Given the description of an element on the screen output the (x, y) to click on. 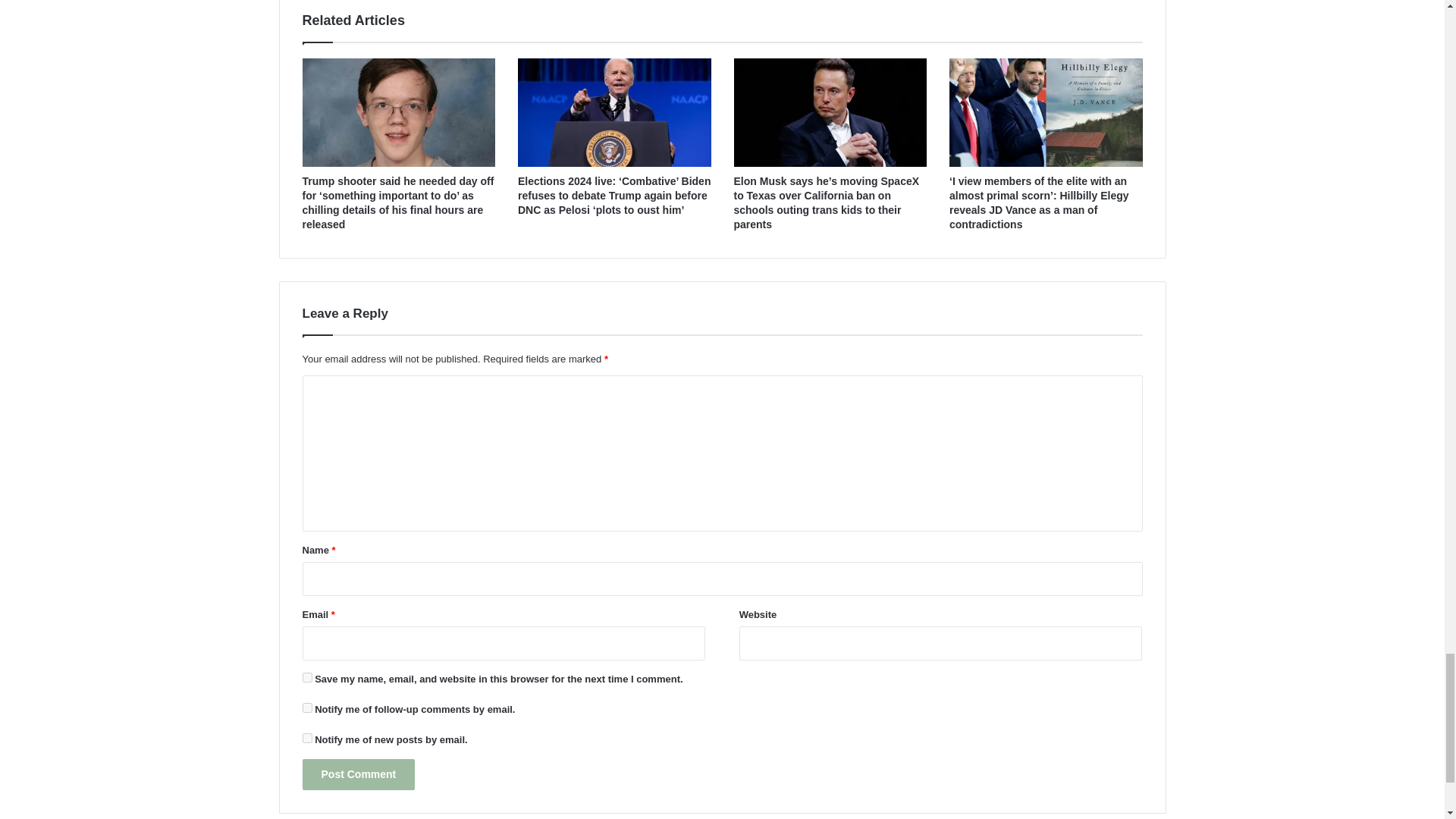
yes (306, 677)
Post Comment (357, 774)
subscribe (306, 737)
subscribe (306, 707)
